Given the description of an element on the screen output the (x, y) to click on. 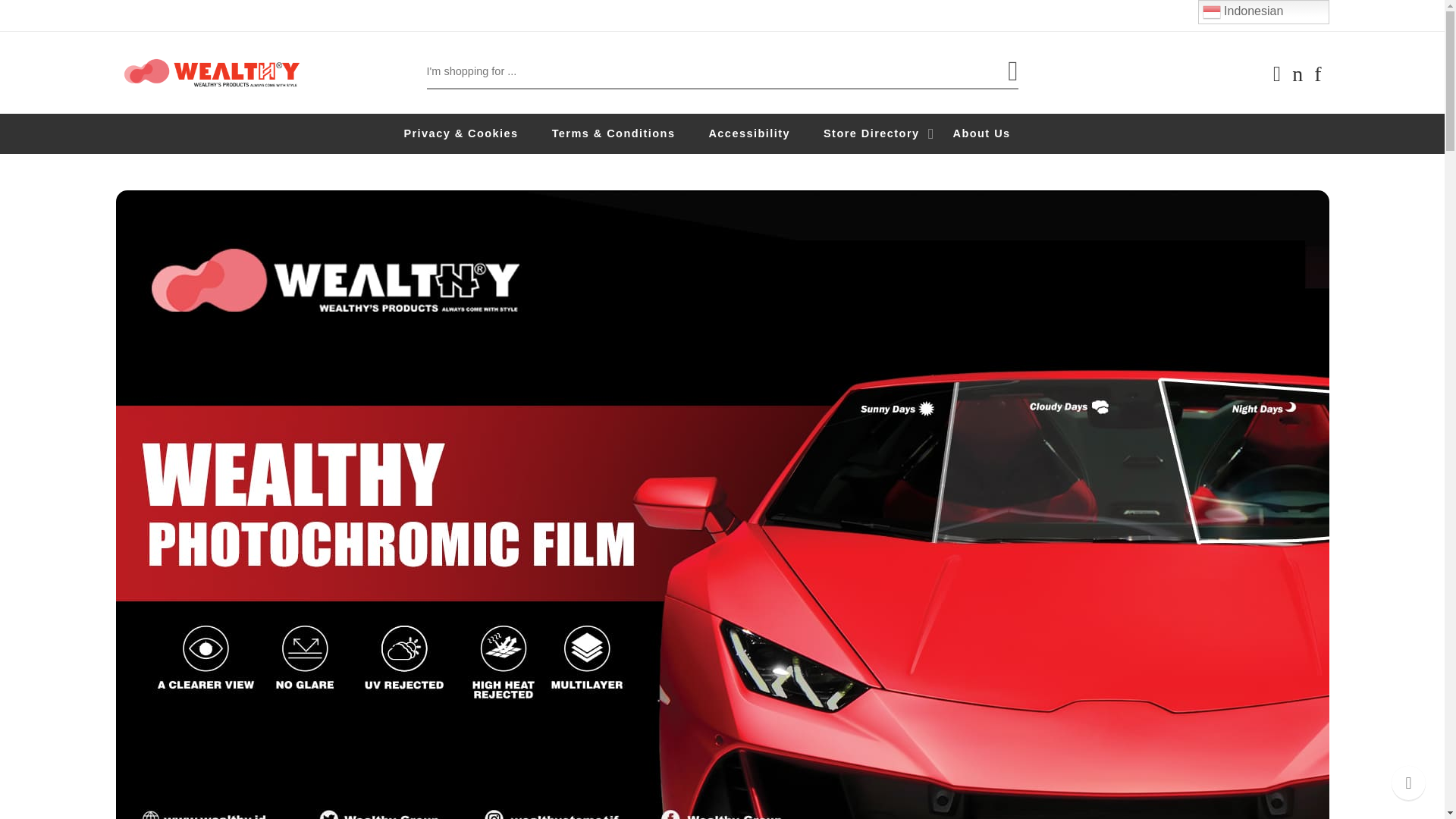
Accessibility (764, 133)
Accessibility (764, 133)
About Us (997, 133)
Wealthy - Product Otomotif Terbaik (210, 72)
Store Directory (887, 133)
Store Directory (887, 133)
